Given the description of an element on the screen output the (x, y) to click on. 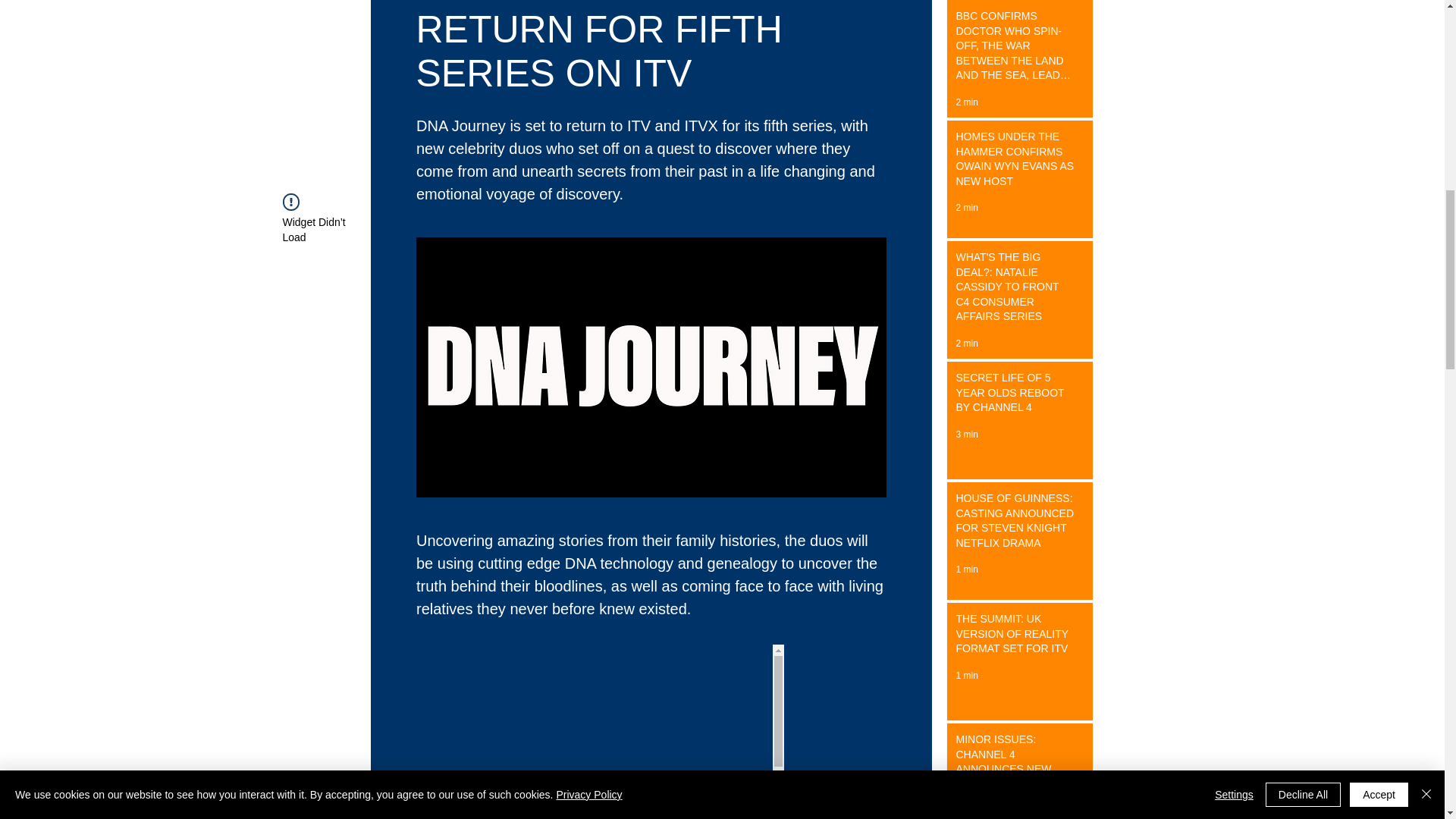
remote content (651, 731)
2 min (965, 207)
3 min (965, 434)
SECRET LIFE OF 5 YEAR OLDS REBOOT BY CHANNEL 4 (1014, 396)
2 min (965, 102)
HOMES UNDER THE HAMMER CONFIRMS OWAIN WYN EVANS AS NEW HOST (1014, 161)
1 min (965, 675)
2 min (965, 343)
1 min (965, 569)
2 min (965, 810)
